Given the description of an element on the screen output the (x, y) to click on. 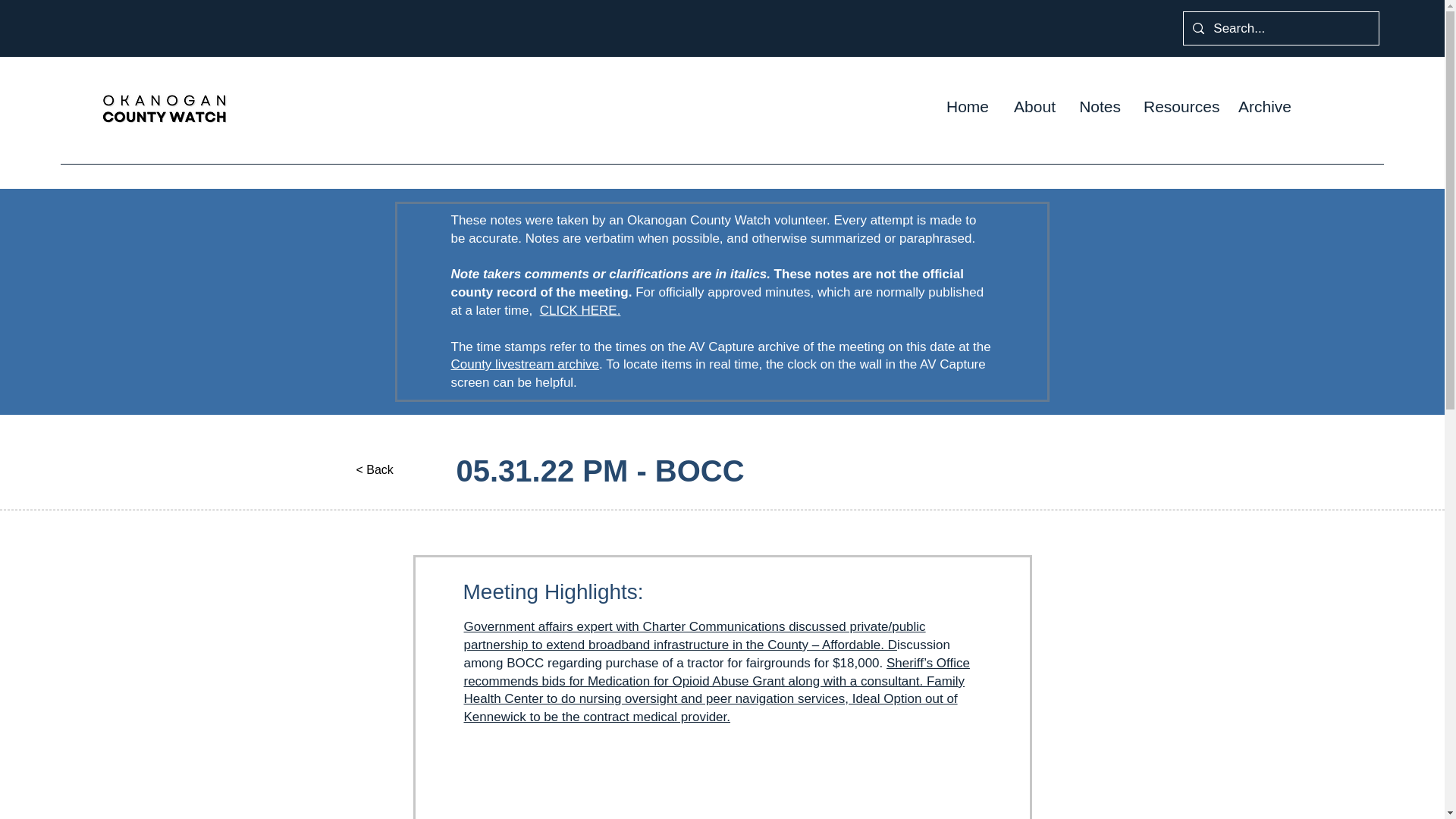
Resources (1179, 106)
About (1033, 106)
CLICK HERE. (580, 310)
County livestream archive (523, 364)
Home (967, 106)
